Given the description of an element on the screen output the (x, y) to click on. 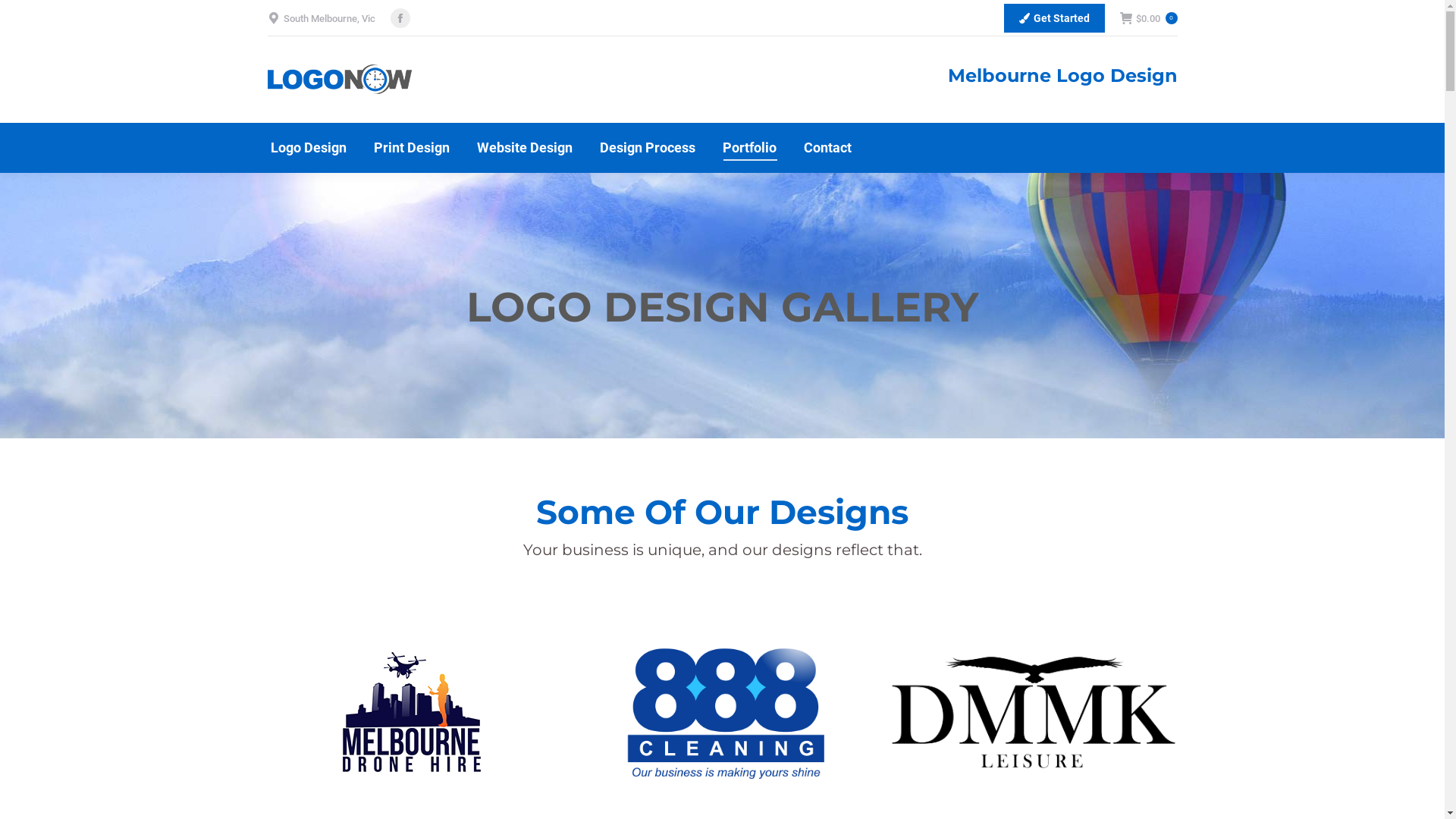
Contact Element type: text (827, 147)
Logo Design Element type: text (307, 147)
Facebook Element type: text (399, 18)
Design Process Element type: text (646, 147)
Get Started Element type: text (1054, 17)
Website Design Element type: text (523, 147)
Portfolio Element type: text (748, 147)
$0.00
0 Element type: text (1147, 18)
Print Design Element type: text (410, 147)
